Given the description of an element on the screen output the (x, y) to click on. 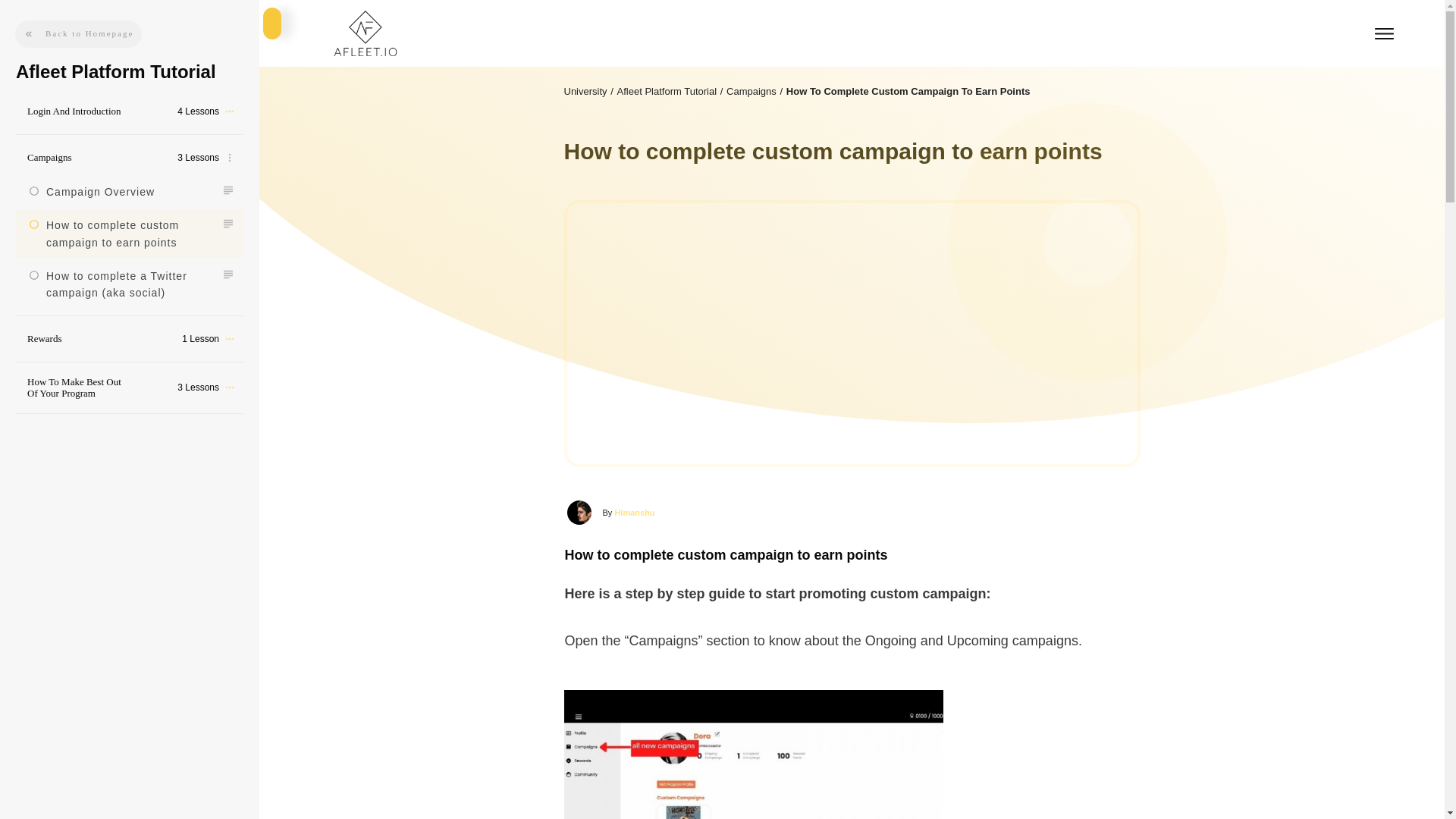
University (585, 91)
Campaign Overview (100, 191)
The Different Types of Urgency Campaigns You Can Create (579, 512)
How to complete custom campaign to earn points (112, 233)
Back to Homepage (77, 33)
4 (753, 754)
Afleet Platform Tutorial (667, 91)
Campaigns (751, 91)
